Given the description of an element on the screen output the (x, y) to click on. 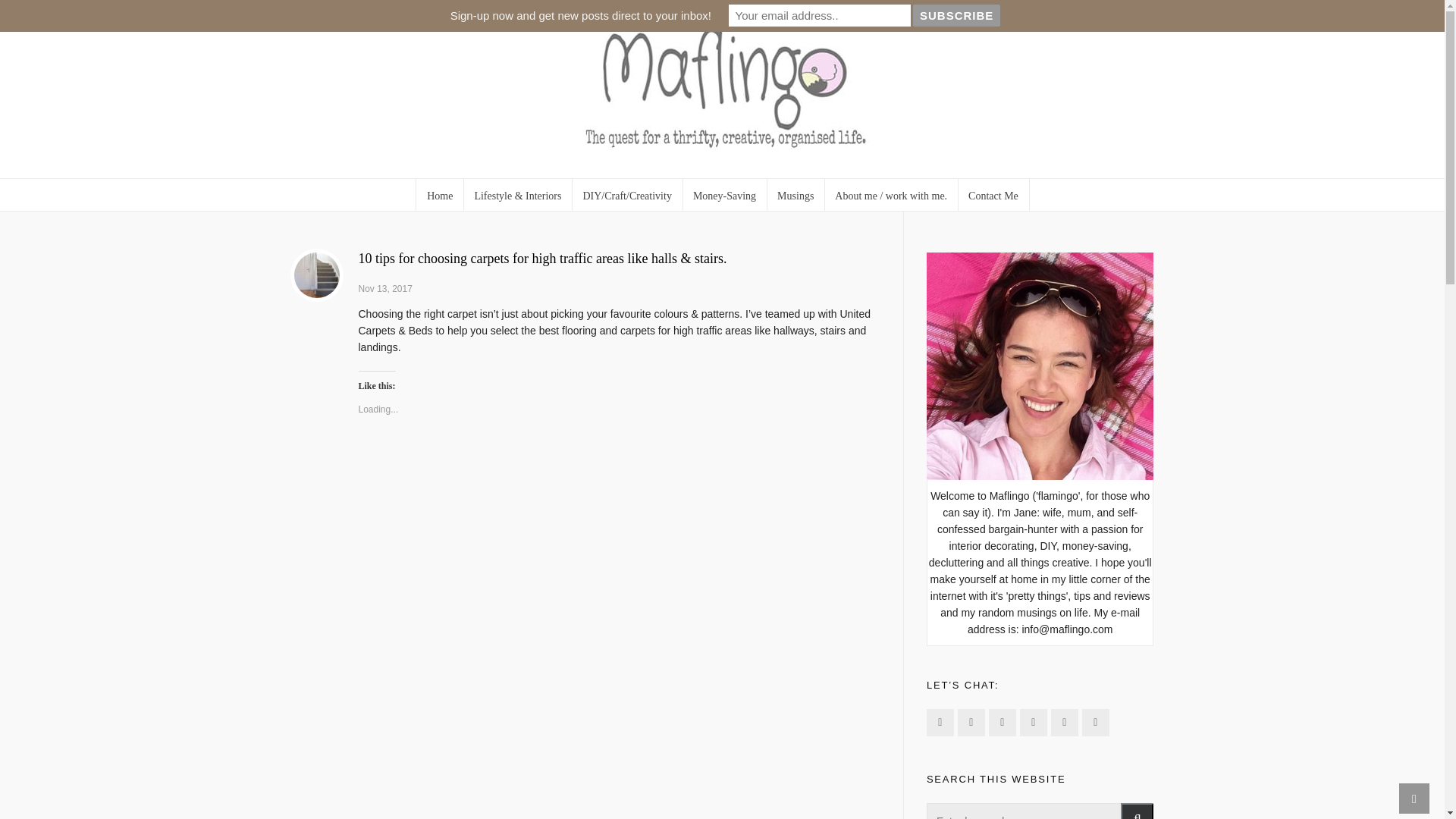
Money-Saving (724, 194)
Subscribe (955, 15)
Jane Taylor Profile Picture (1040, 365)
Home (439, 194)
Musings (796, 194)
Contact Me (993, 194)
